Given the description of an element on the screen output the (x, y) to click on. 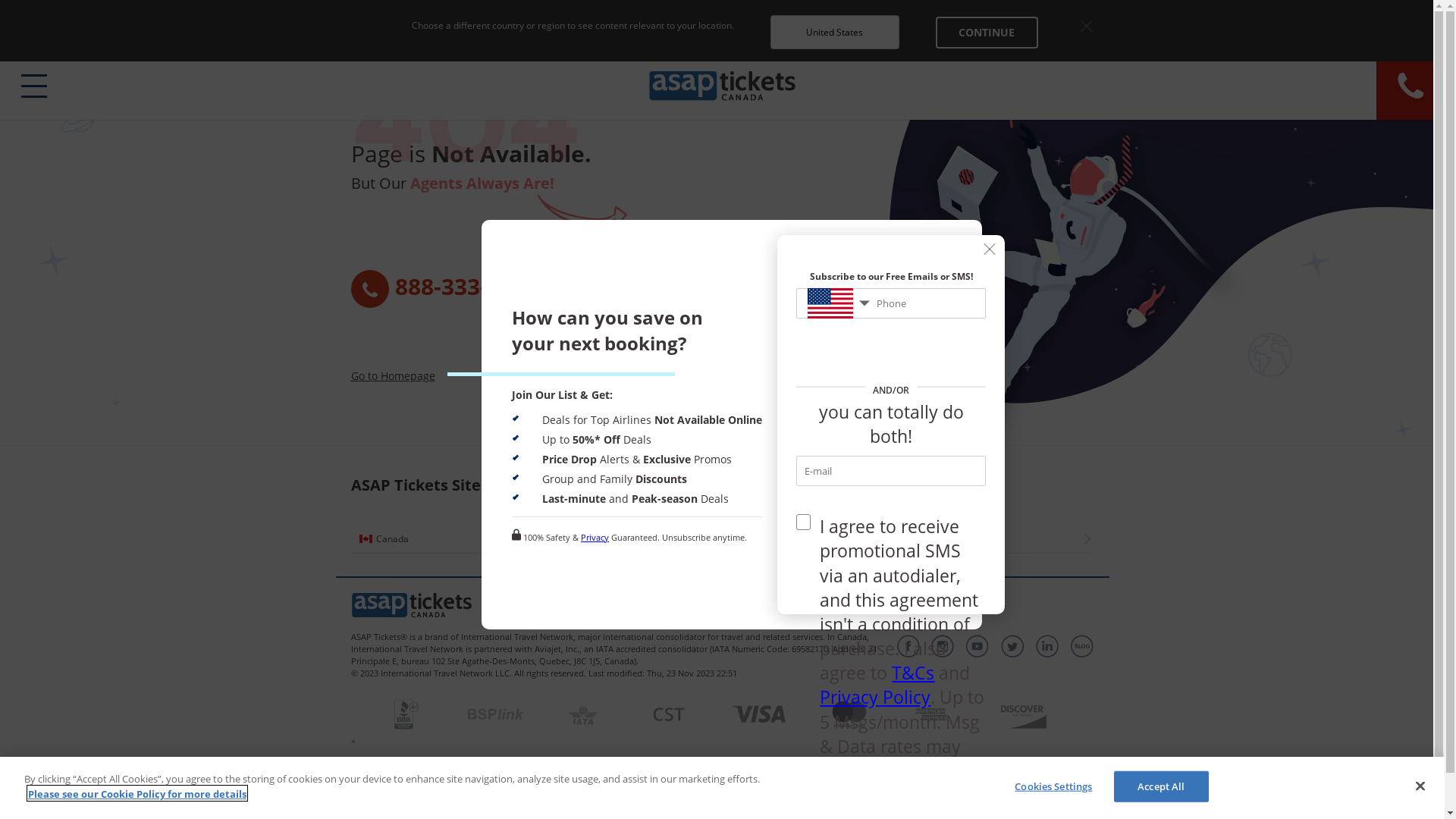
Follow us on Facebook Element type: hover (907, 646)
Cookies Settings Element type: text (1053, 786)
Go to Homepage Element type: text (392, 375)
888-333-1035 Element type: text (539, 288)
Follow us on Twitter Element type: hover (1012, 646)
Privacy Element type: text (594, 536)
United States Element type: text (624, 538)
Accept All Element type: text (1160, 787)
Customer Service Element type: text (759, 604)
Follow us on Instagram Element type: hover (942, 646)
Cheap Tickets Element type: text (567, 604)
Contact Us Element type: text (830, 604)
T&Cs Element type: text (912, 672)
Terms and Conditions Element type: text (962, 604)
Privacy Policy Element type: text (874, 696)
Our Blog Element type: hover (1081, 646)
Reviews Element type: text (694, 604)
Learn more Element type: text (1376, 24)
United Kingdom Element type: text (819, 538)
Youtube Element type: hover (977, 646)
Follow us on LinkedIn Element type: hover (1046, 646)
About Us Element type: text (885, 604)
Please see our Cookie Policy for more details Element type: text (137, 793)
Privacy policy Element type: text (637, 604)
CONTINUE Element type: text (986, 32)
Africa Element type: text (1015, 538)
